Given the description of an element on the screen output the (x, y) to click on. 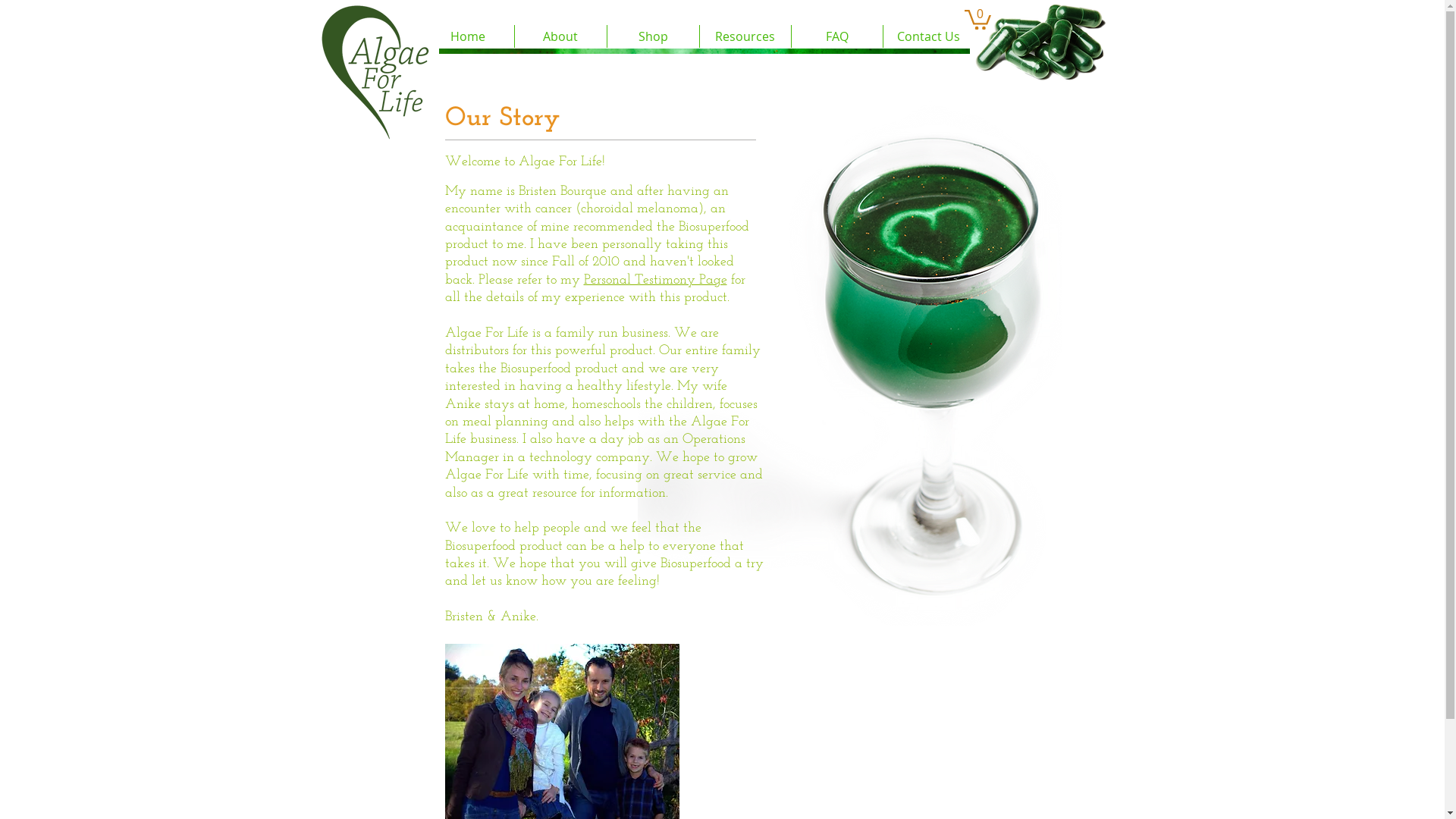
Contact Us Element type: text (927, 36)
Resources Element type: text (744, 36)
Shop Element type: text (652, 36)
Personal Testimony Page Element type: text (655, 280)
Home Element type: text (467, 36)
Algae Cup Heart Element type: hover (849, 363)
0 Element type: text (977, 18)
AglaeForLife Logo Element type: hover (382, 71)
